Given the description of an element on the screen output the (x, y) to click on. 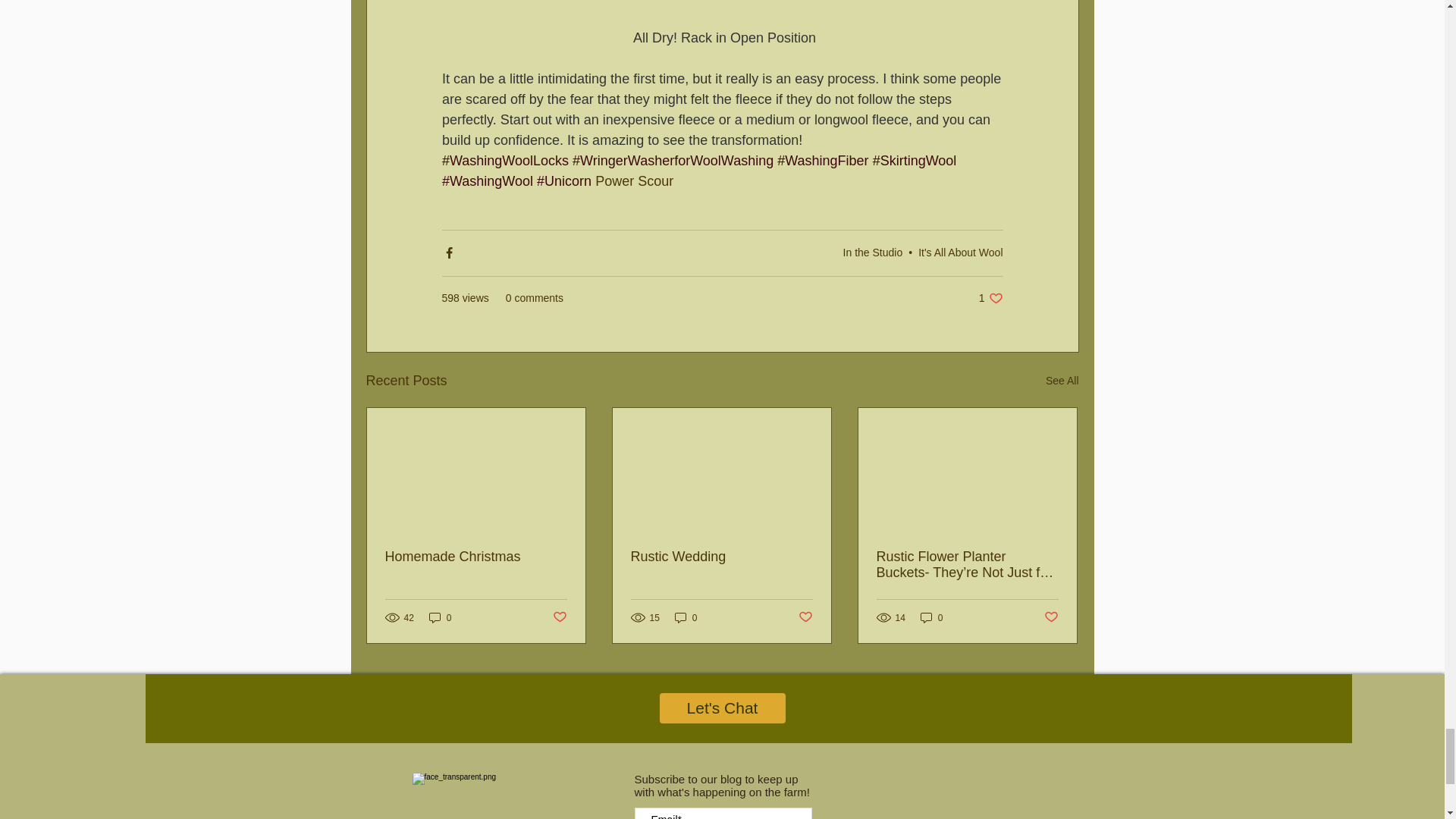
Facebook Like (956, 802)
See All (990, 298)
In the Studio (1061, 381)
It's All About Wool (872, 252)
